Given the description of an element on the screen output the (x, y) to click on. 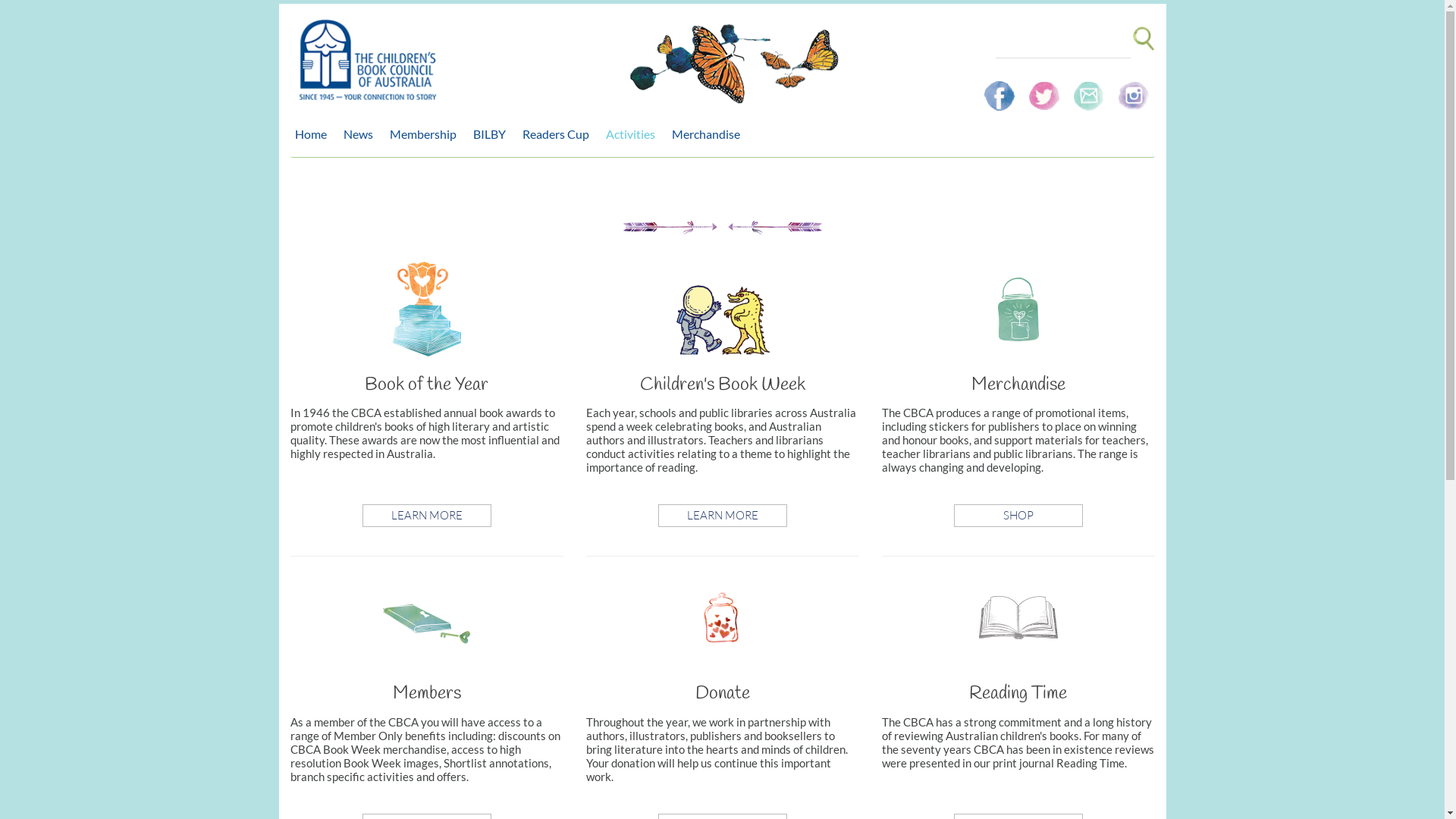
News Element type: text (361, 133)
Instagram Element type: hover (1132, 89)
Email Element type: hover (1089, 89)
Membership Element type: text (426, 133)
SHOP Element type: text (1017, 515)
BILBY Element type: text (492, 133)
Activities Element type: text (633, 133)
Twitter @cbcaqld Element type: hover (1044, 89)
Home Element type: text (313, 133)
Merchandise Element type: text (709, 133)
Facebook Element type: hover (1000, 89)
LEARN MORE Element type: text (722, 515)
Readers Cup Element type: text (558, 133)
LEARN MORE Element type: text (426, 515)
